Given the description of an element on the screen output the (x, y) to click on. 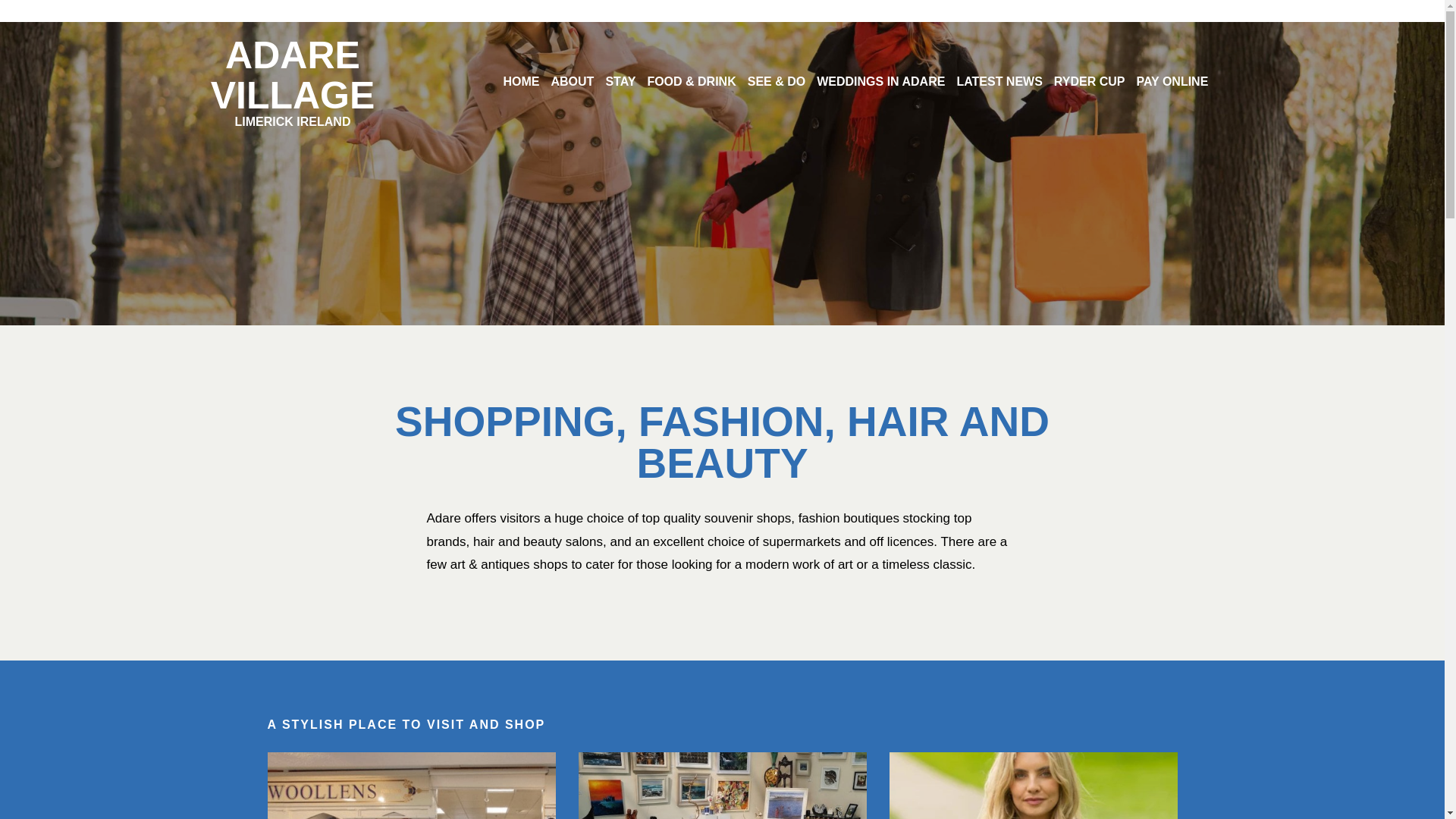
HOME (520, 82)
RYDER CUP (293, 80)
PAY ONLINE (1089, 82)
ABOUT (1171, 82)
STAY (572, 82)
LATEST NEWS (619, 82)
WEDDINGS IN ADARE (999, 82)
